Given the description of an element on the screen output the (x, y) to click on. 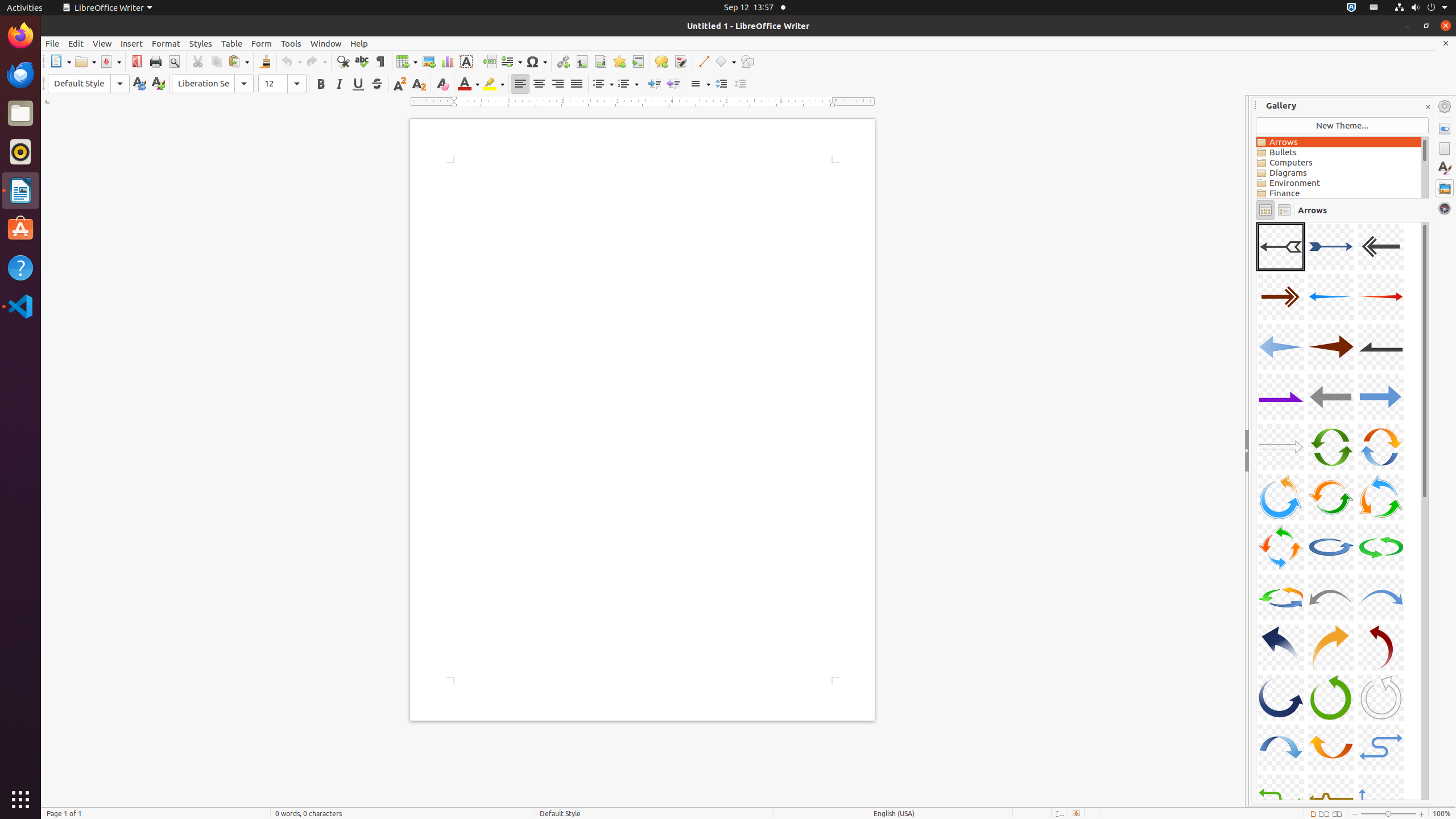
Basic Shapes Element type: push-button (724, 61)
Styles Element type: radio-button (1444, 168)
Highlight Color Element type: push-button (493, 83)
A35-CurvedArrow-Brown-Left Element type: list-item (1256, 222)
Files Element type: push-button (20, 113)
